Given the description of an element on the screen output the (x, y) to click on. 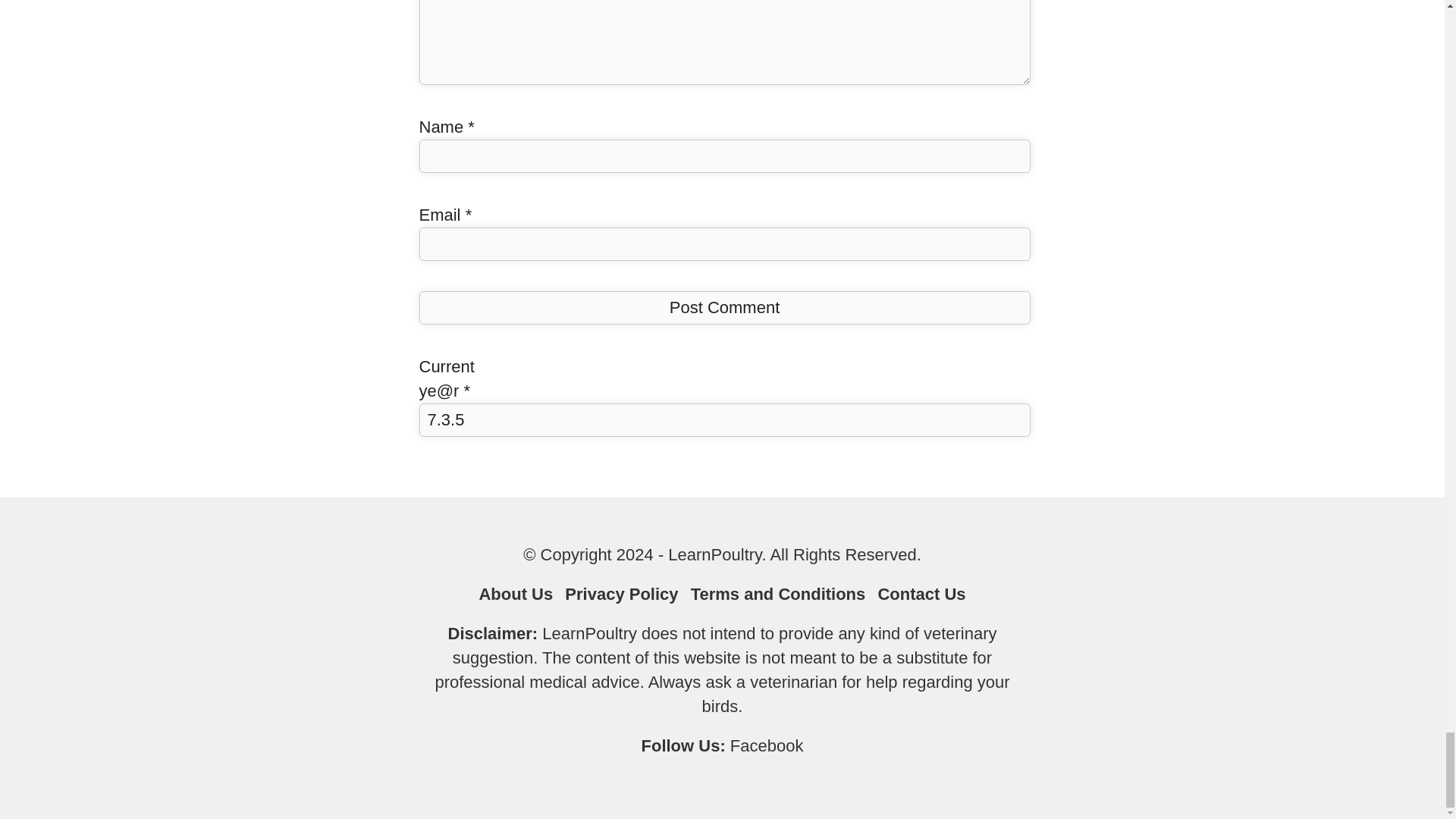
Post Comment (724, 307)
Facebook (766, 745)
7.3.5 (724, 419)
Privacy Policy (621, 593)
About Us (516, 593)
Terms and Conditions (778, 593)
Contact Us (921, 593)
Post Comment (724, 307)
